Given the description of an element on the screen output the (x, y) to click on. 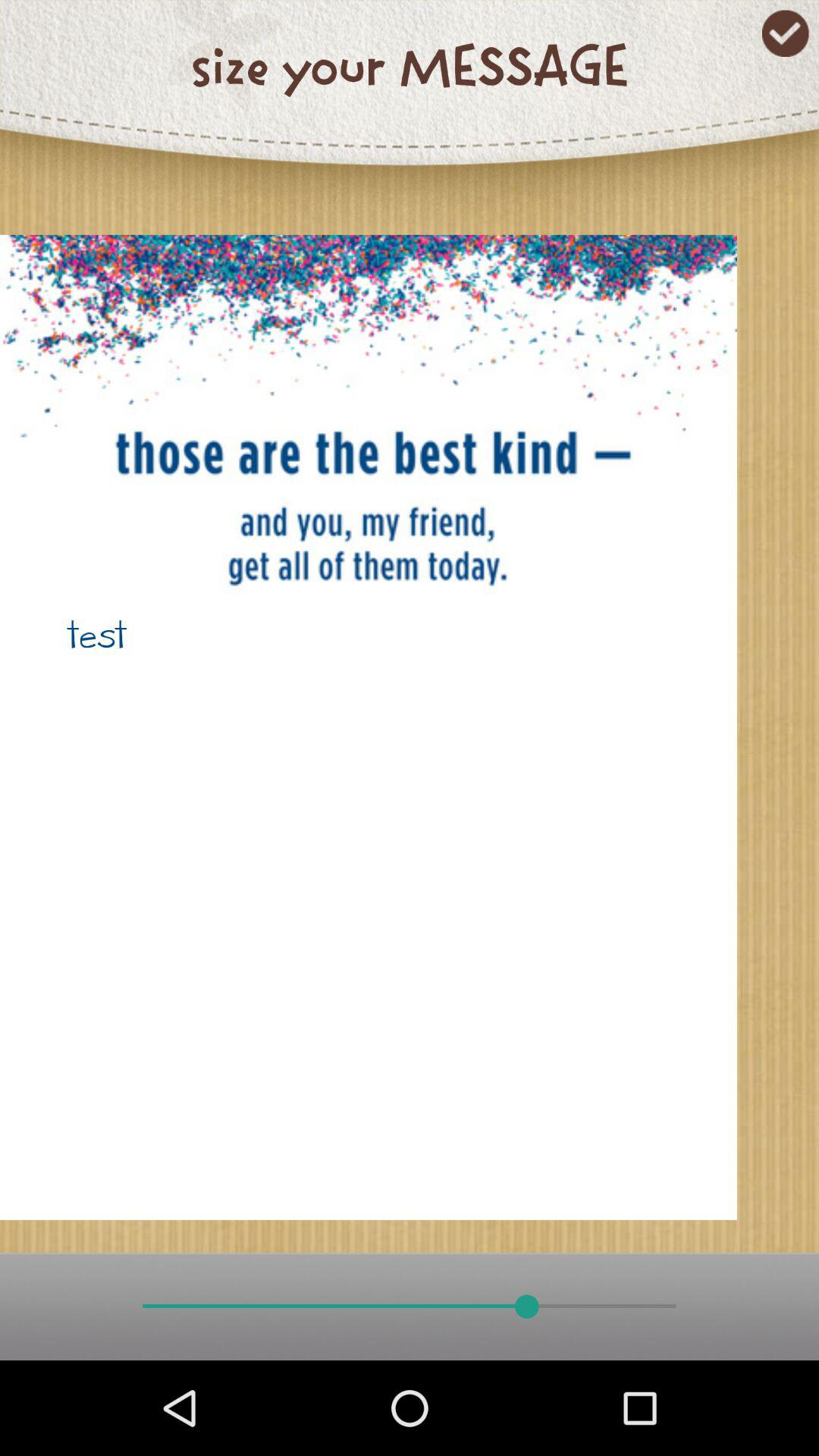
launch icon at the top right corner (785, 33)
